Given the description of an element on the screen output the (x, y) to click on. 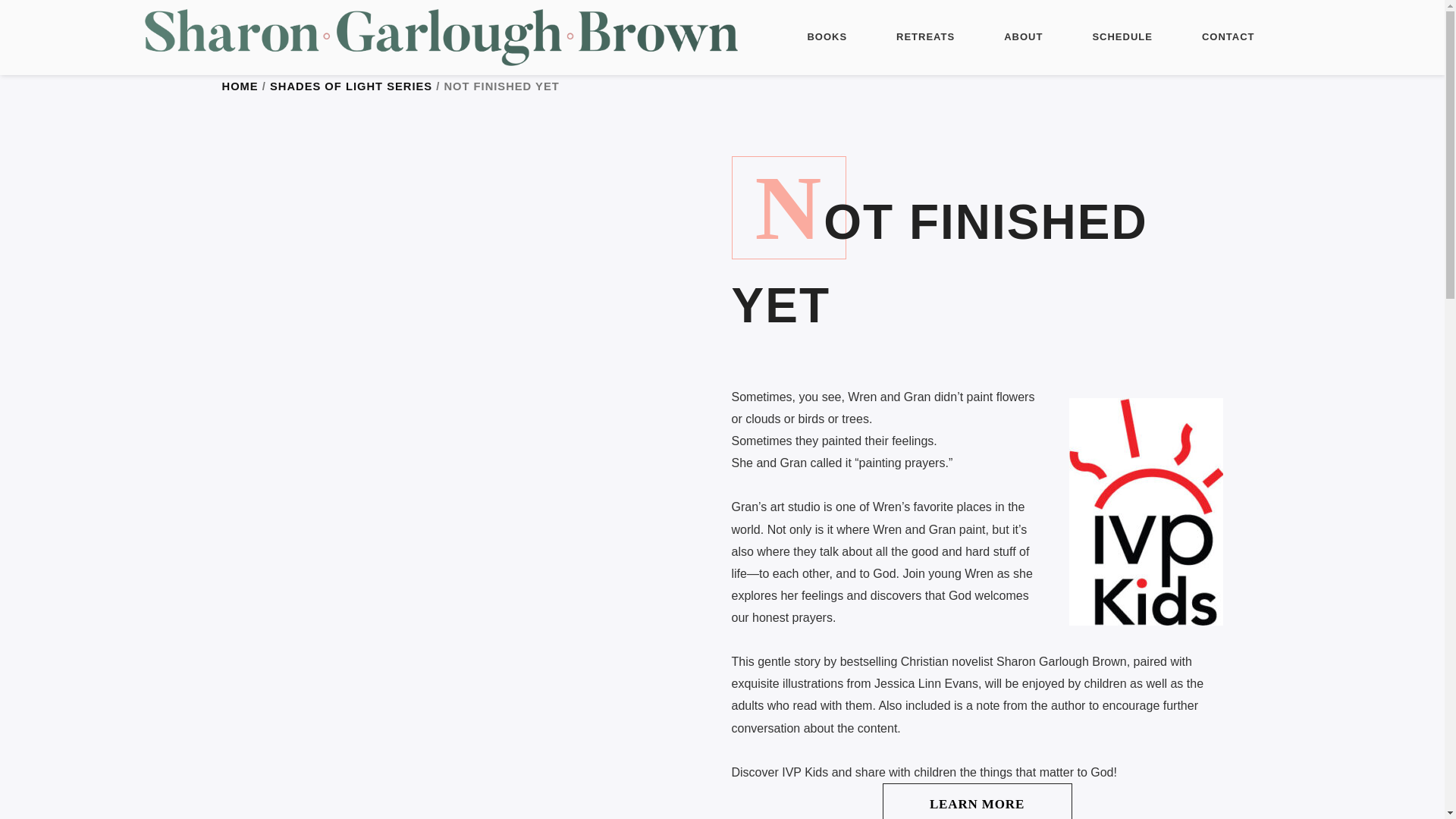
LEARN MORE (976, 800)
RETREATS (925, 37)
BOOKS (826, 37)
HOME (239, 86)
SHADES OF LIGHT SERIES (350, 86)
SCHEDULE (1122, 37)
SUBSCRIBE (696, 591)
CONTACT (1228, 37)
ABOUT (1023, 37)
DESIGNED AND DEVELOPED BY USEFUL GROUP (722, 792)
